Given the description of an element on the screen output the (x, y) to click on. 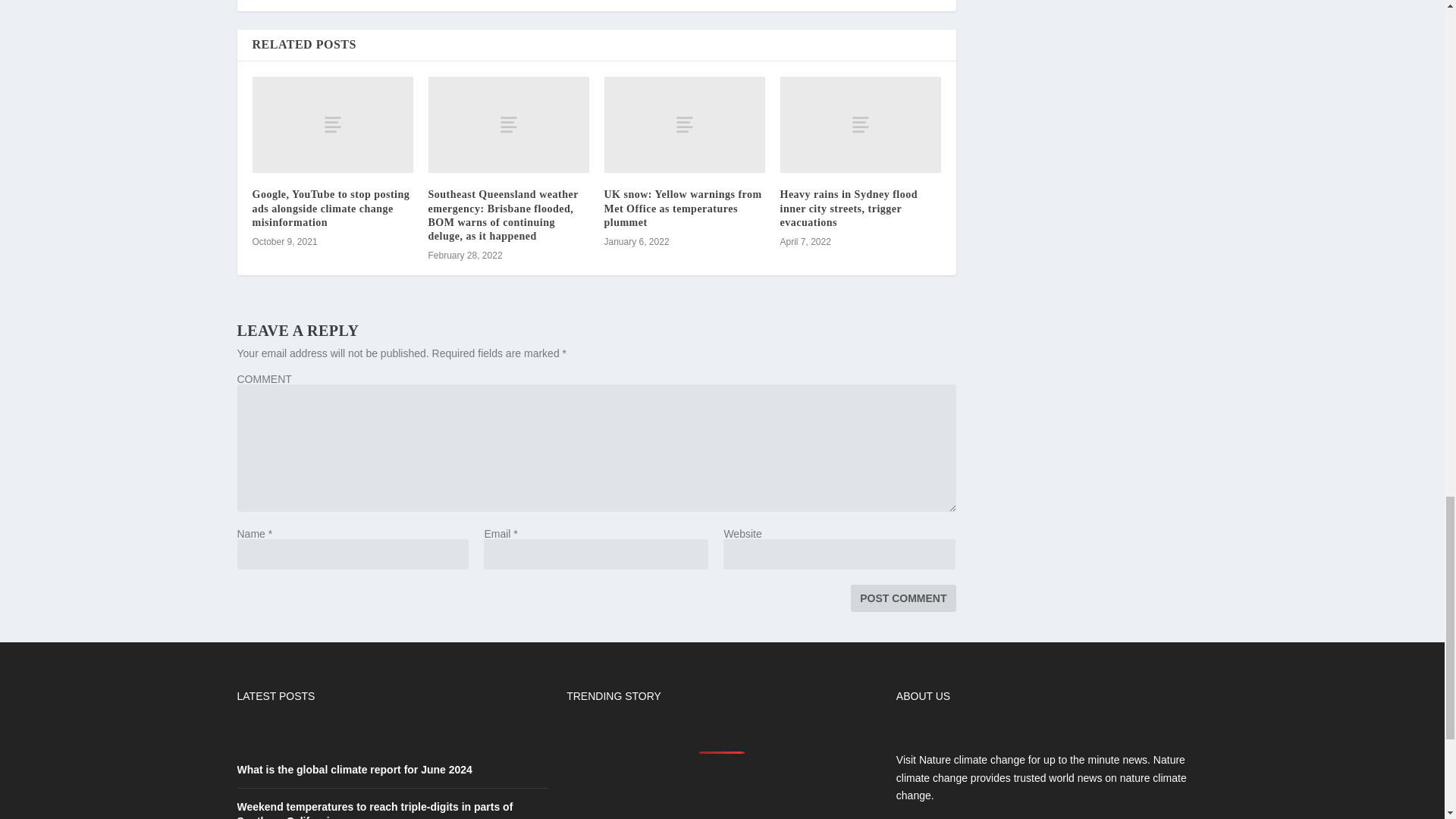
Post Comment (902, 597)
